Given the description of an element on the screen output the (x, y) to click on. 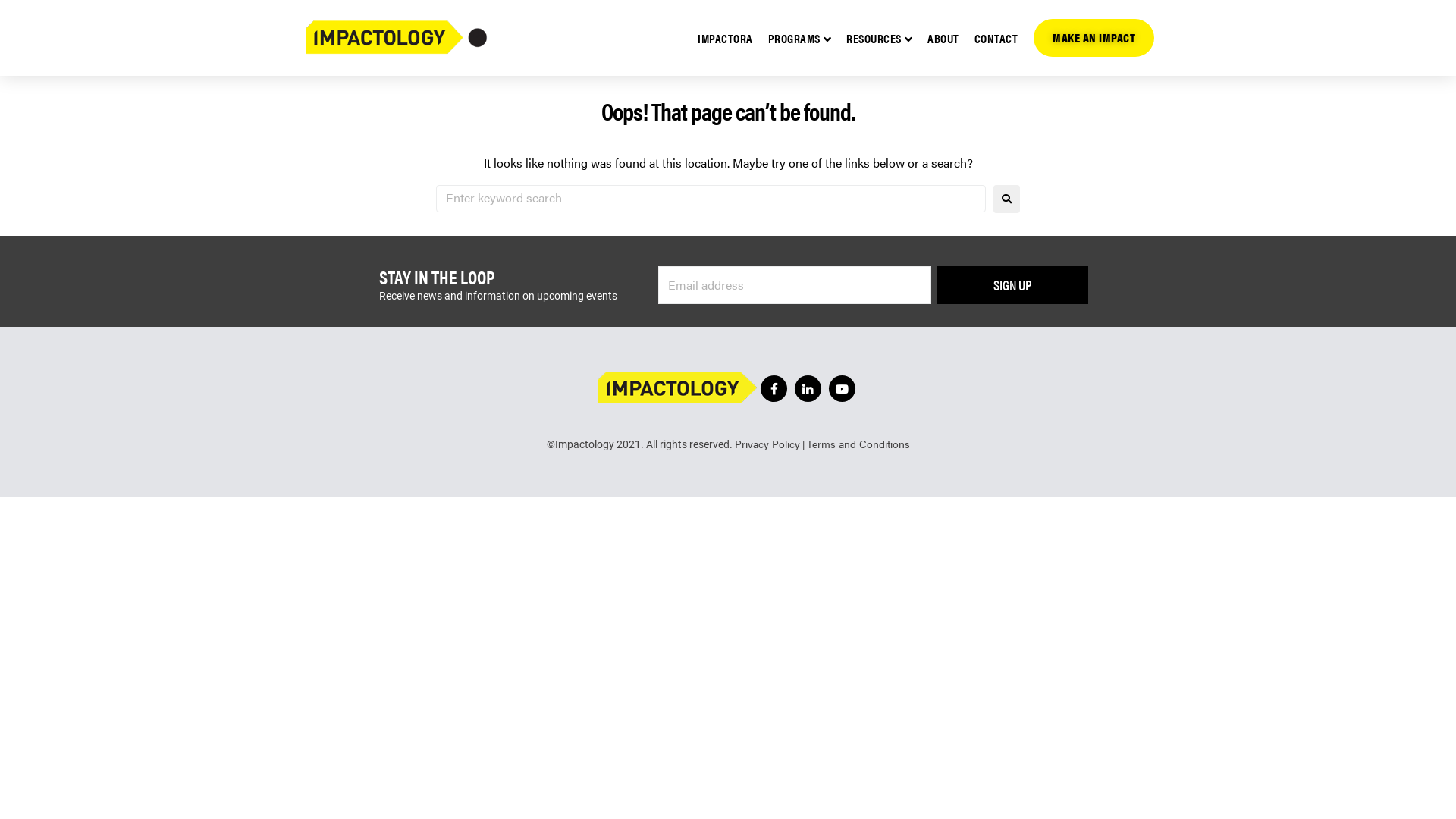
Privacy Policy Element type: text (766, 443)
PROGRAMS Element type: text (799, 37)
CONTACT Element type: text (996, 37)
Sign up Element type: text (1012, 285)
RESOURCES Element type: text (878, 37)
IMPACTORA Element type: text (725, 37)
MAKE AN IMPACT Element type: text (1093, 37)
Terms and Conditions Element type: text (858, 443)
ABOUT Element type: text (942, 37)
